Given the description of an element on the screen output the (x, y) to click on. 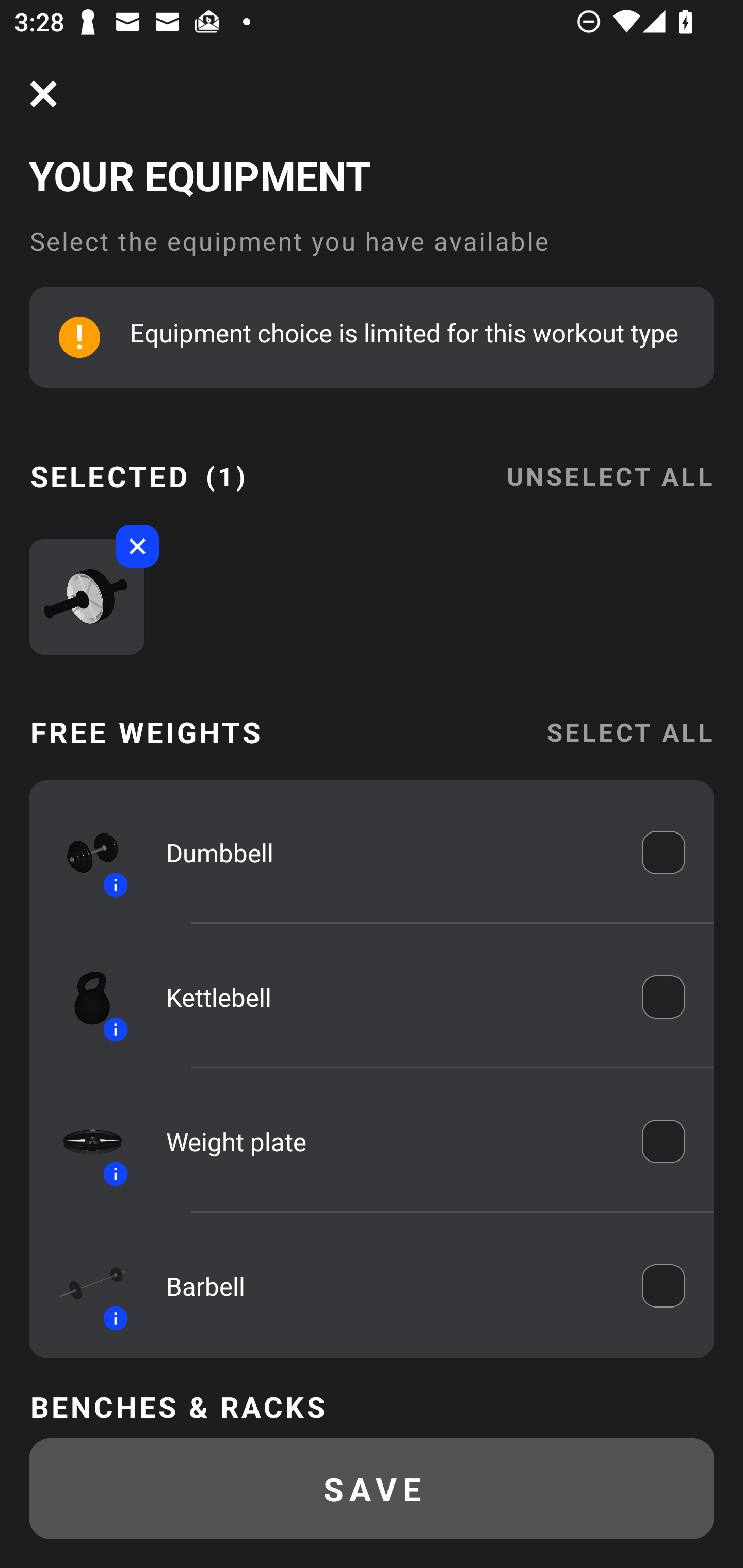
Navigation icon (43, 93)
UNSELECT ALL (609, 463)
SELECT ALL (629, 731)
Equipment icon Information icon (82, 852)
Dumbbell (389, 852)
Equipment icon Information icon (82, 996)
Kettlebell (389, 996)
Equipment icon Information icon (82, 1140)
Weight plate (389, 1141)
Equipment icon Information icon (82, 1286)
Barbell (389, 1285)
SAVE (371, 1488)
